Given the description of an element on the screen output the (x, y) to click on. 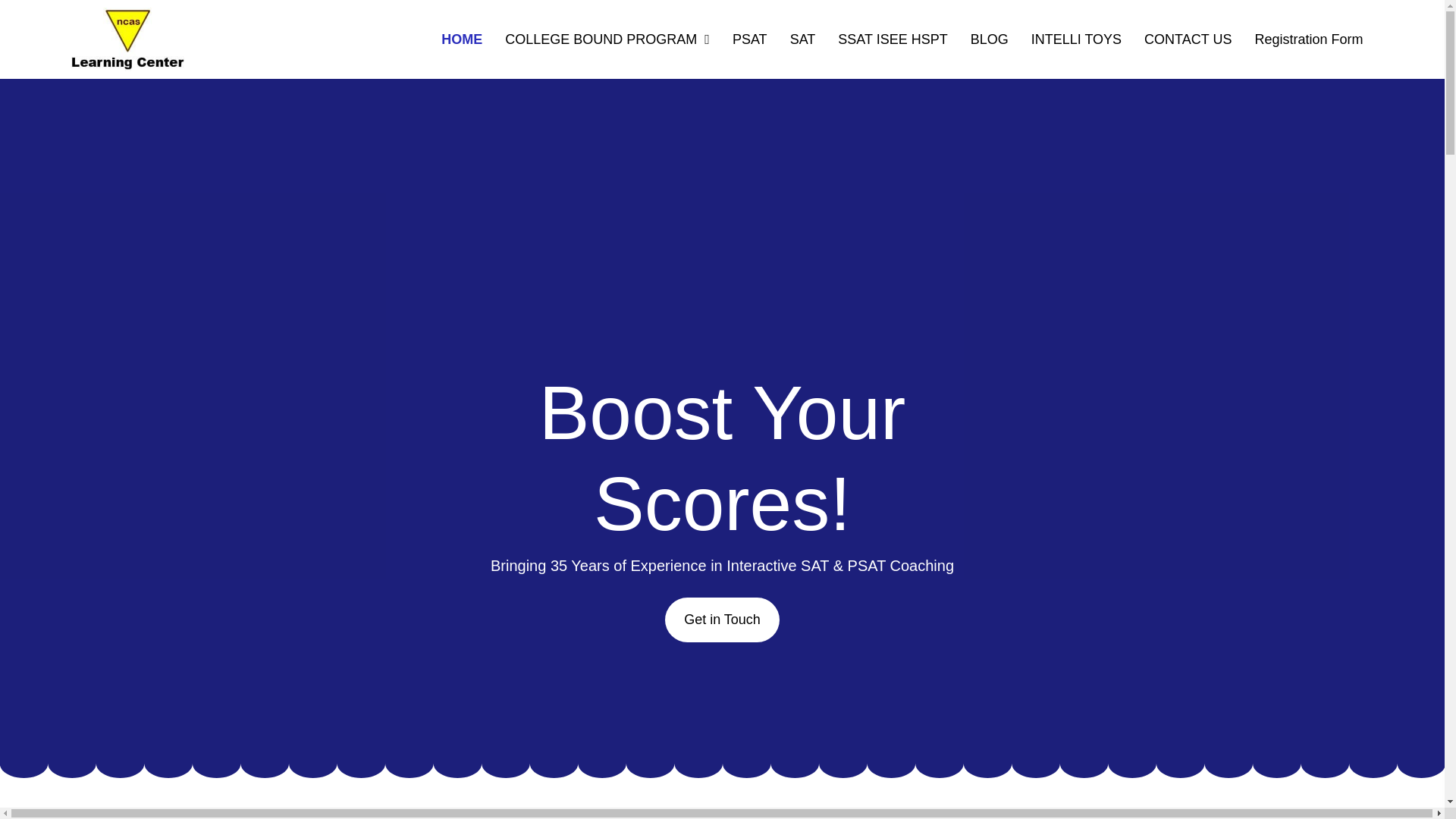
Get in Touch (721, 619)
PSAT (749, 39)
BLOG (989, 39)
HOME (461, 39)
SSAT ISEE HSPT (892, 39)
SAT (803, 39)
INTELLI TOYS (1076, 39)
COLLEGE BOUND PROGRAM (607, 39)
NCAS LEARNING CENTER (126, 39)
Registration Form (1308, 39)
